Given the description of an element on the screen output the (x, y) to click on. 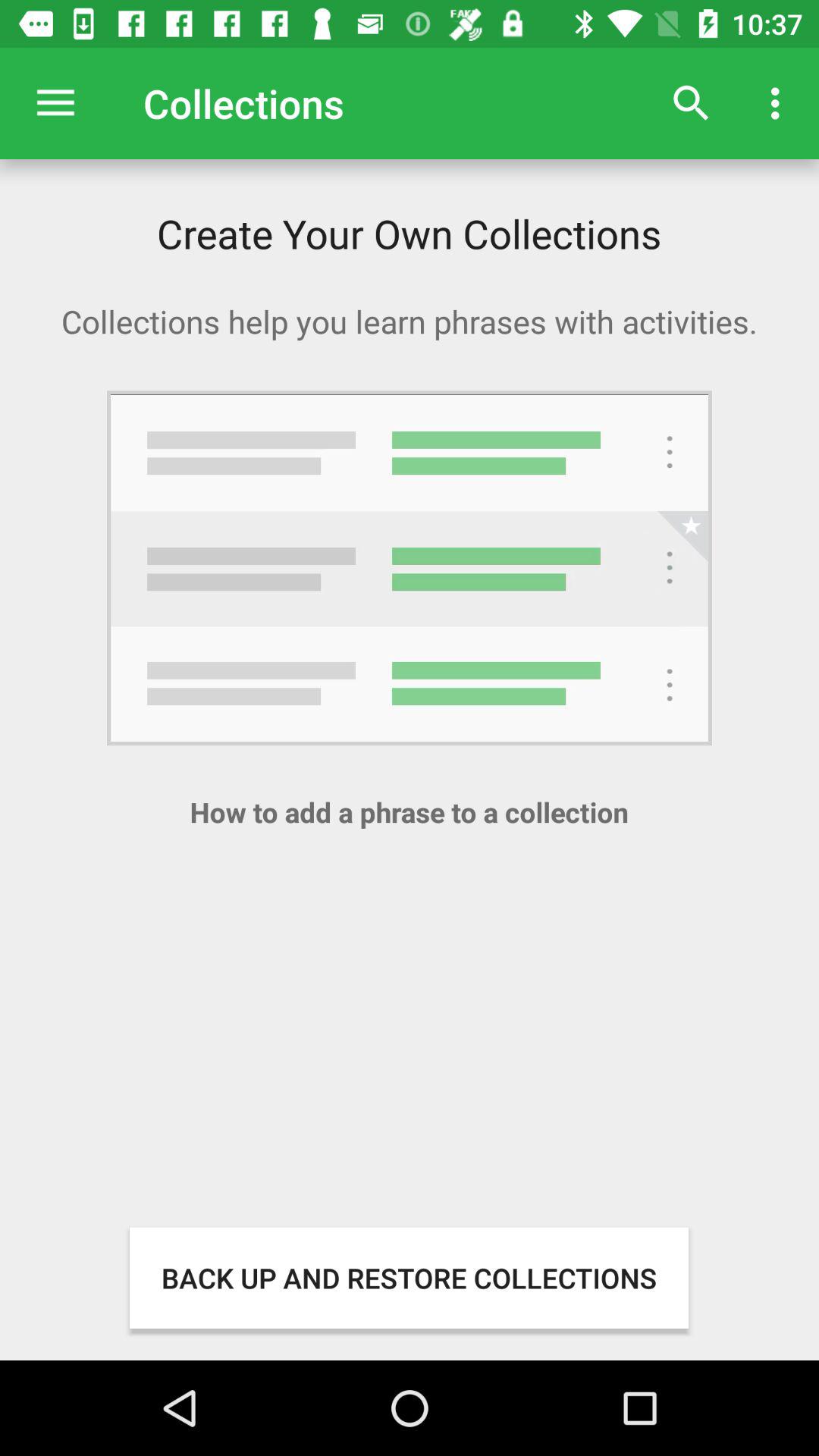
drop down menu (55, 103)
